Given the description of an element on the screen output the (x, y) to click on. 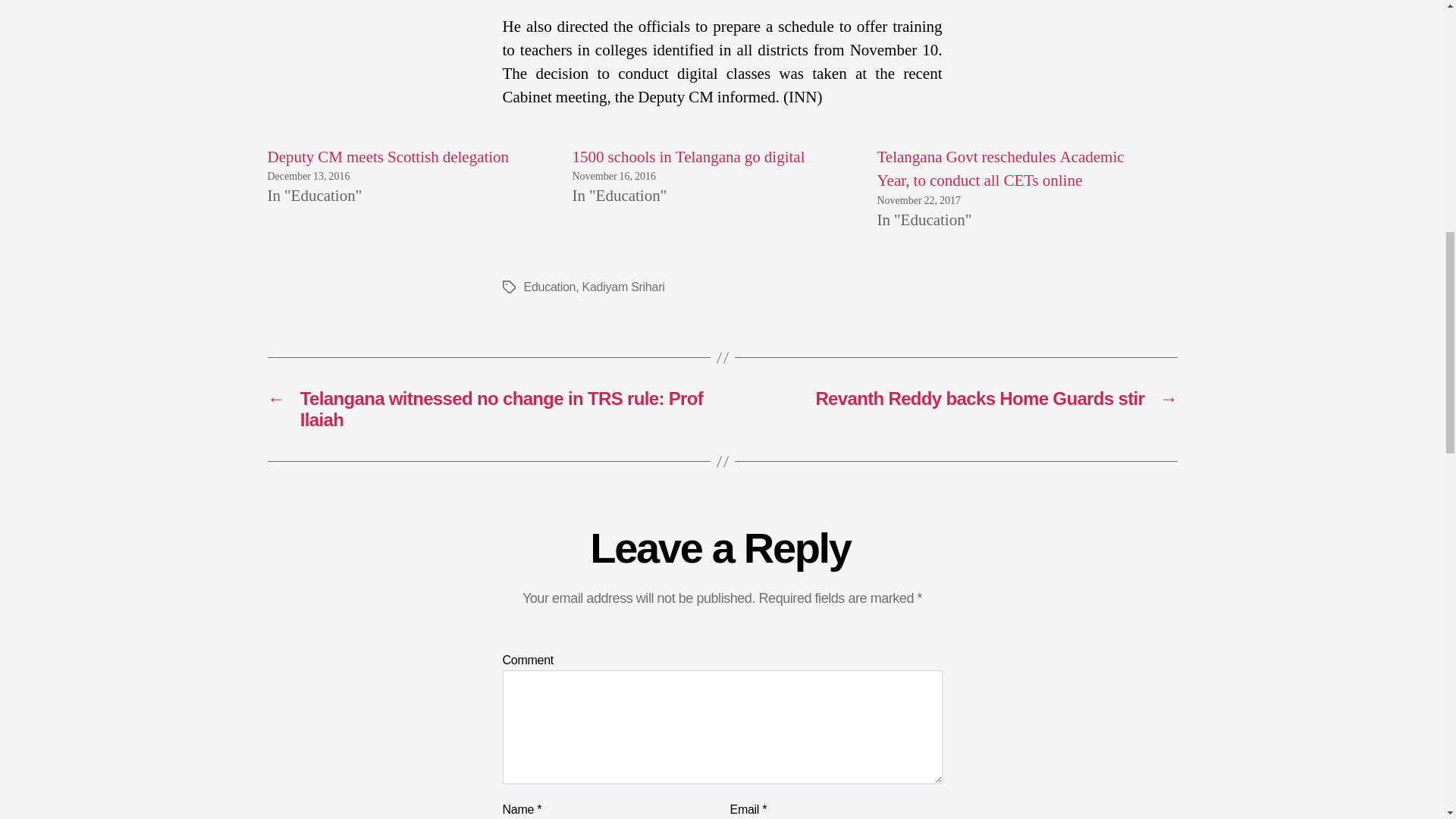
Deputy CM meets Scottish delegation (387, 157)
1500 schools in Telangana go digital (688, 157)
Kadiyam Srihari (623, 286)
Deputy CM meets Scottish delegation (387, 157)
1500 schools in Telangana go digital (688, 157)
Education (548, 286)
